Given the description of an element on the screen output the (x, y) to click on. 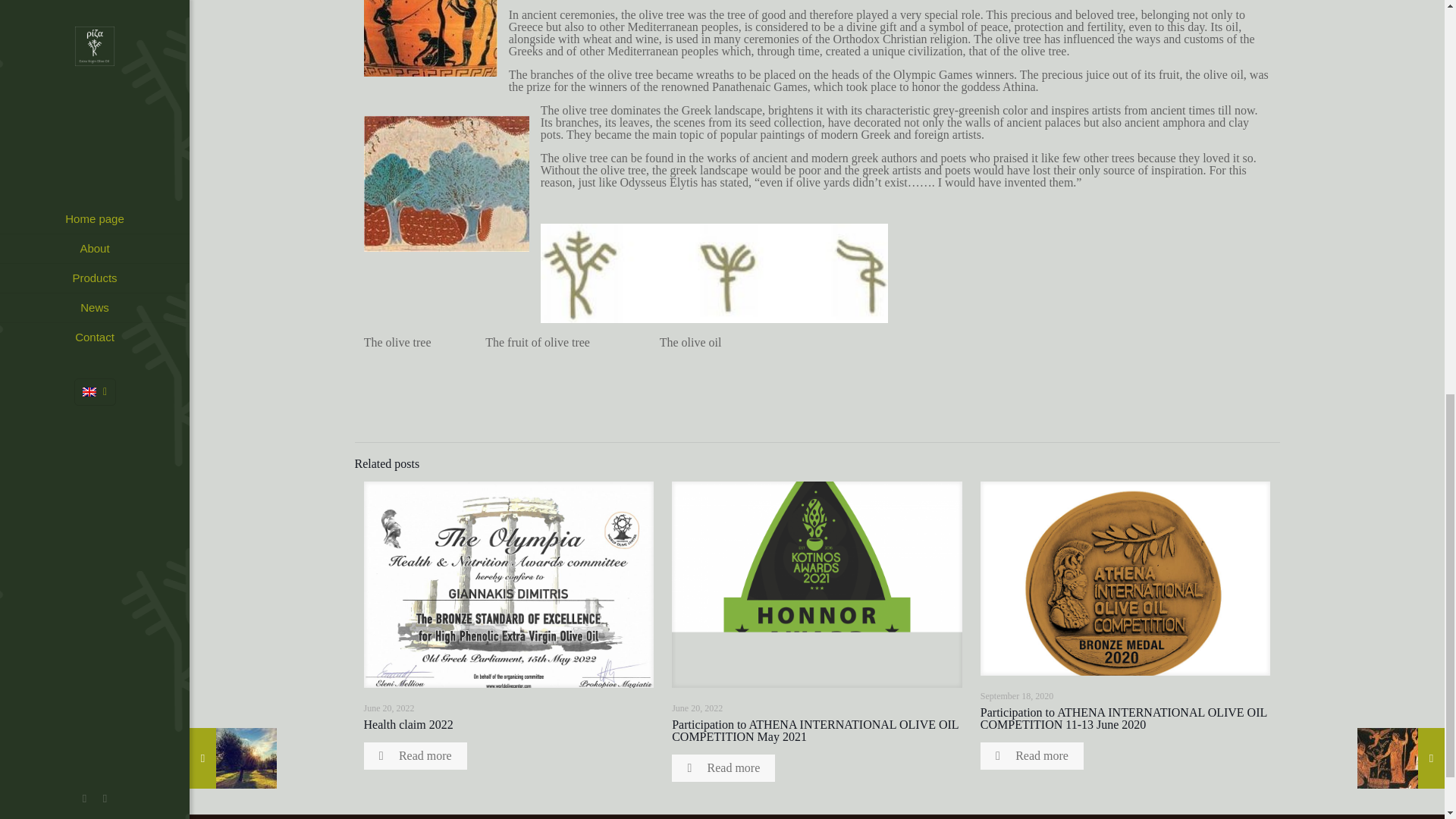
Read more (415, 755)
Read more (722, 768)
Health claim 2022 (408, 724)
Read more (1031, 755)
